Given the description of an element on the screen output the (x, y) to click on. 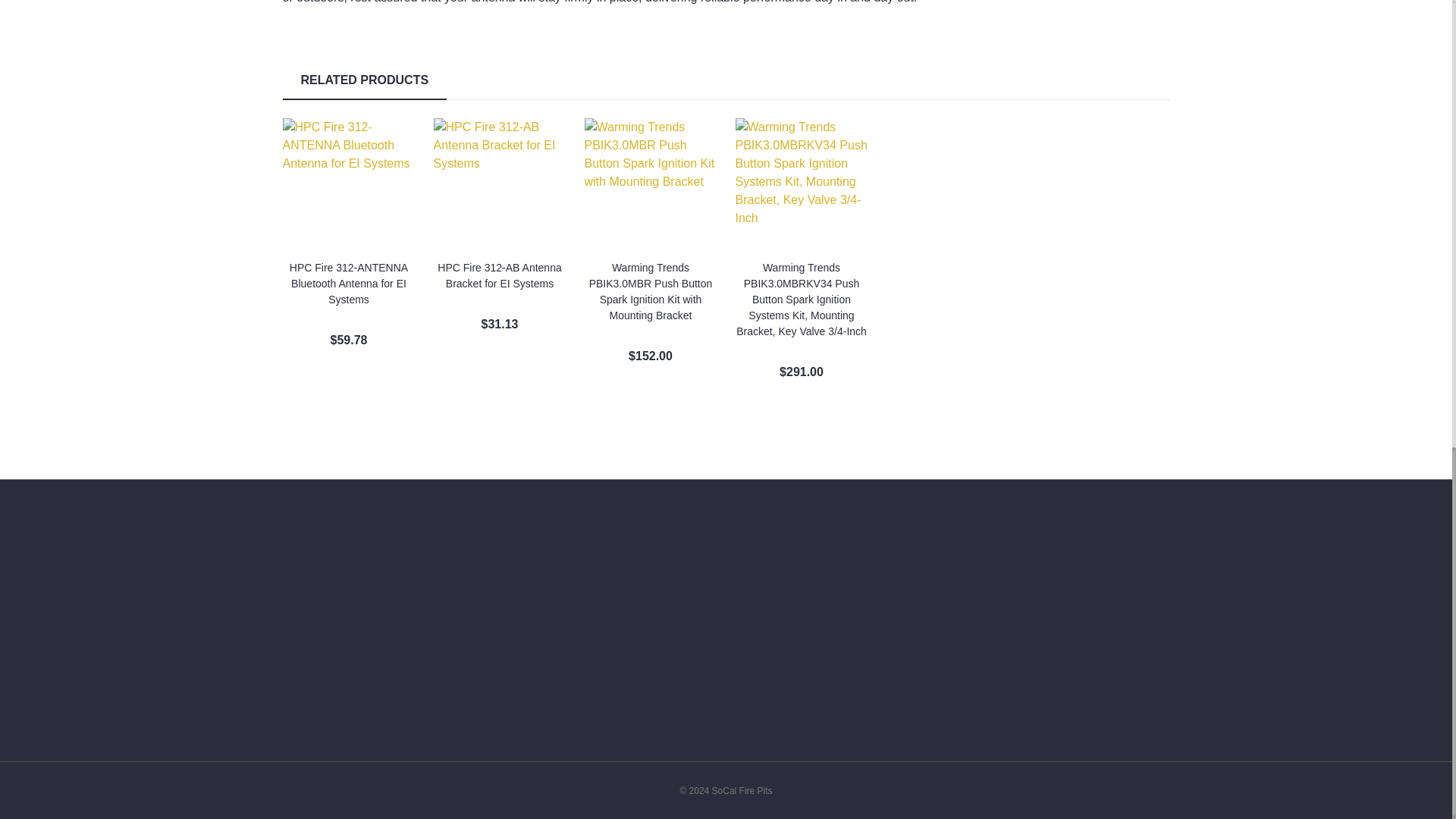
HPC Fire 312-AB Antenna Bracket for EI Systems (499, 183)
HPC Fire 312-ANTENNA Bluetooth Antenna for EI Systems (348, 183)
